Given the description of an element on the screen output the (x, y) to click on. 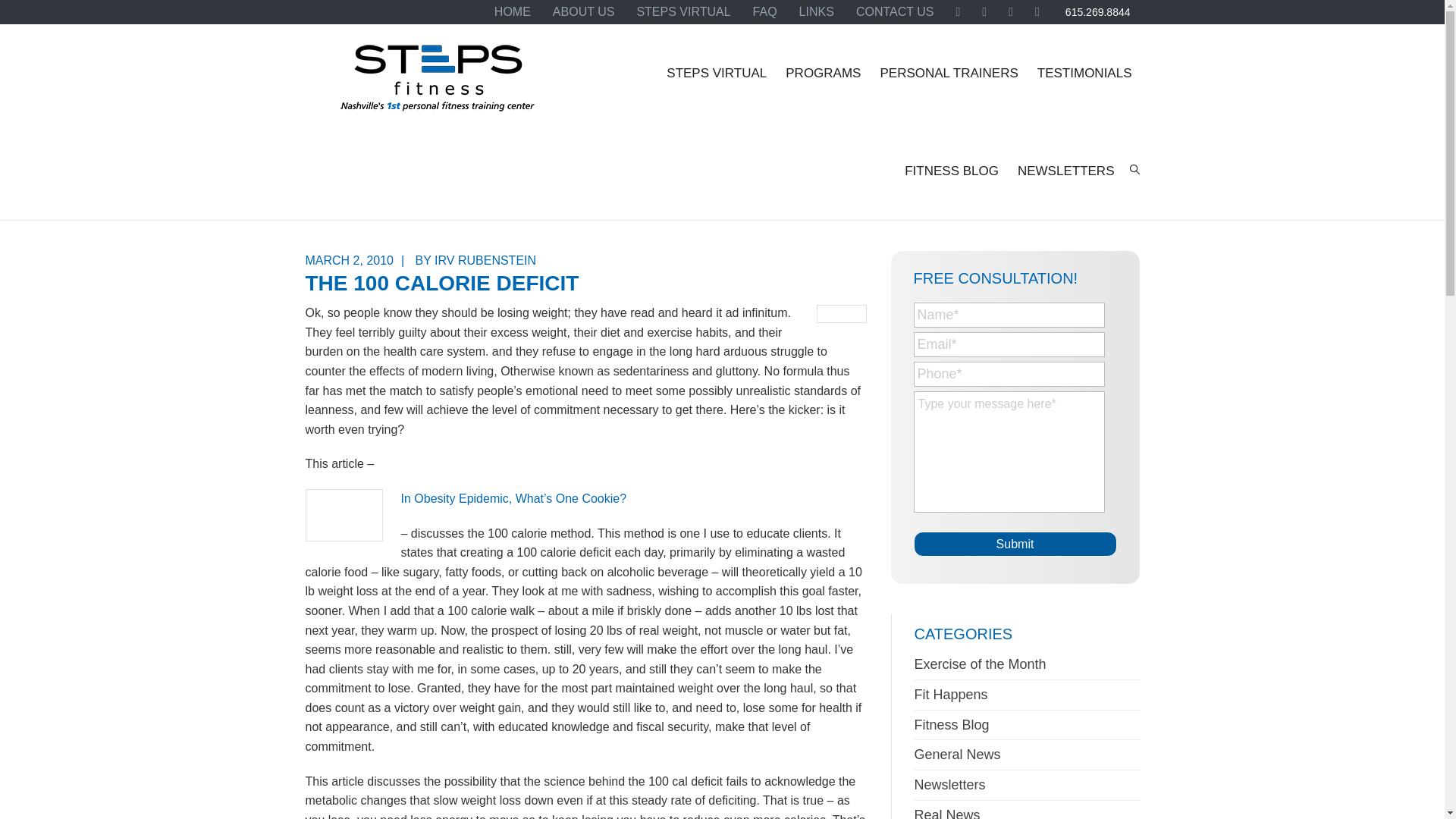
STEPS FITNESS (437, 84)
CONTACT US (895, 12)
FITNESS BLOG (951, 171)
PERSONAL TRAINERS (948, 73)
NEWSLETTERS (1066, 171)
615.269.8844 (1098, 11)
In Obesity Epidemic, What's One Cookie? (513, 498)
LINKS (816, 12)
PROGRAMS (822, 73)
TESTIMONIALS (1084, 73)
ABOUT US (583, 12)
Submit (1014, 543)
STEPS VIRTUAL (683, 12)
FAQ (765, 12)
